Given the description of an element on the screen output the (x, y) to click on. 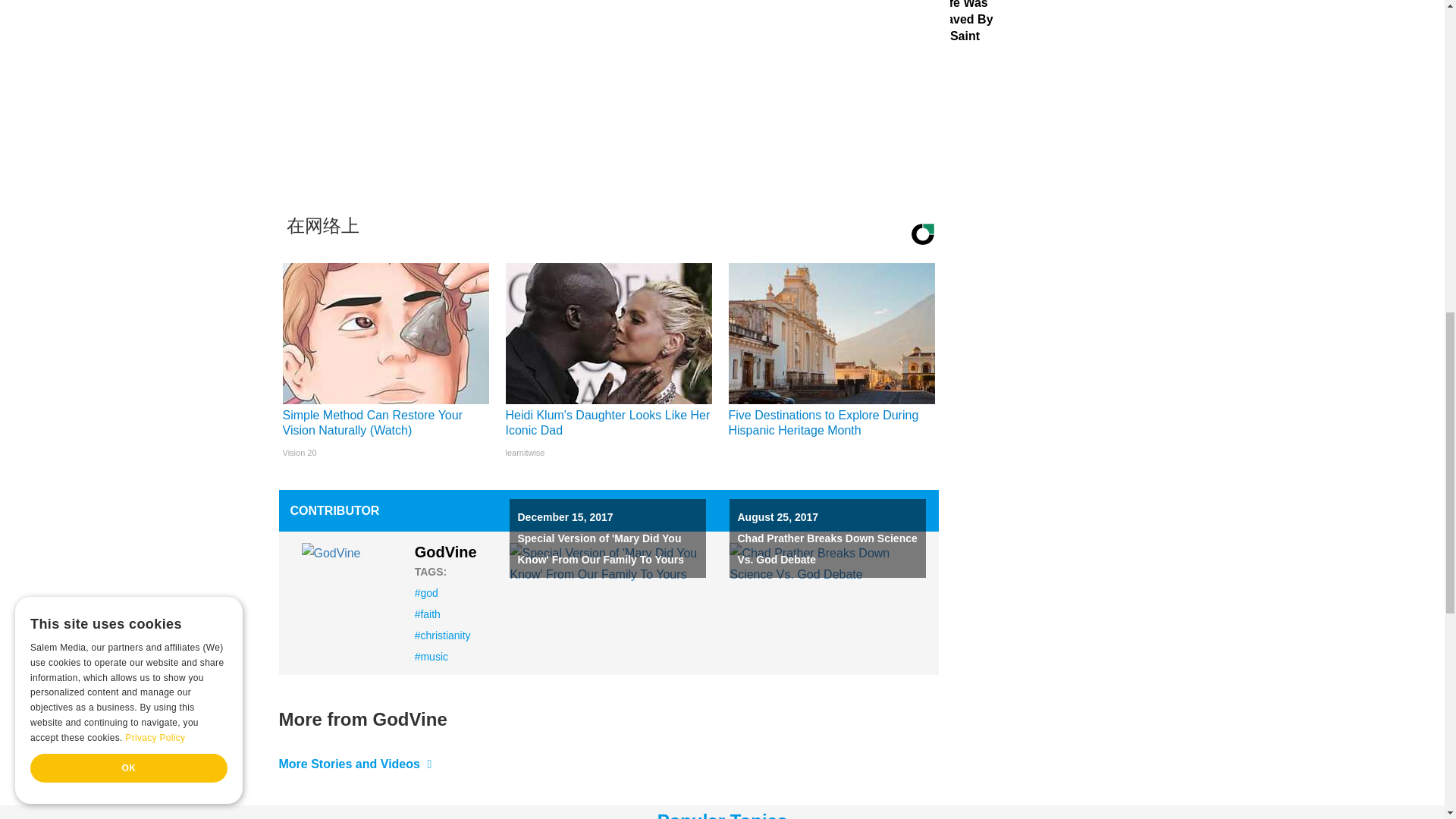
3rd party ad content (608, 90)
